Given the description of an element on the screen output the (x, y) to click on. 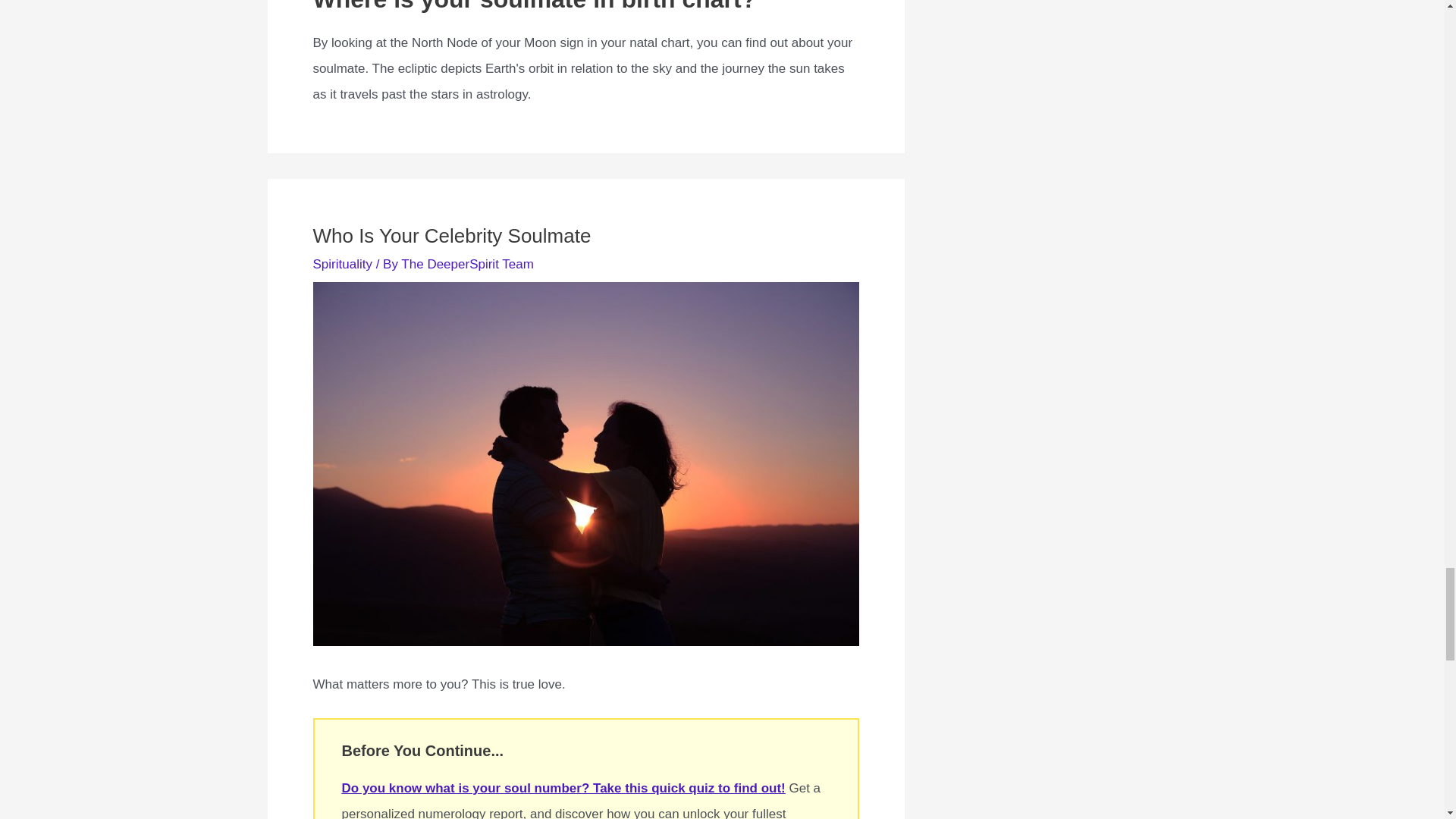
The DeeperSpirit Team (467, 264)
View all posts by The DeeperSpirit Team (467, 264)
Spirituality (342, 264)
